Given the description of an element on the screen output the (x, y) to click on. 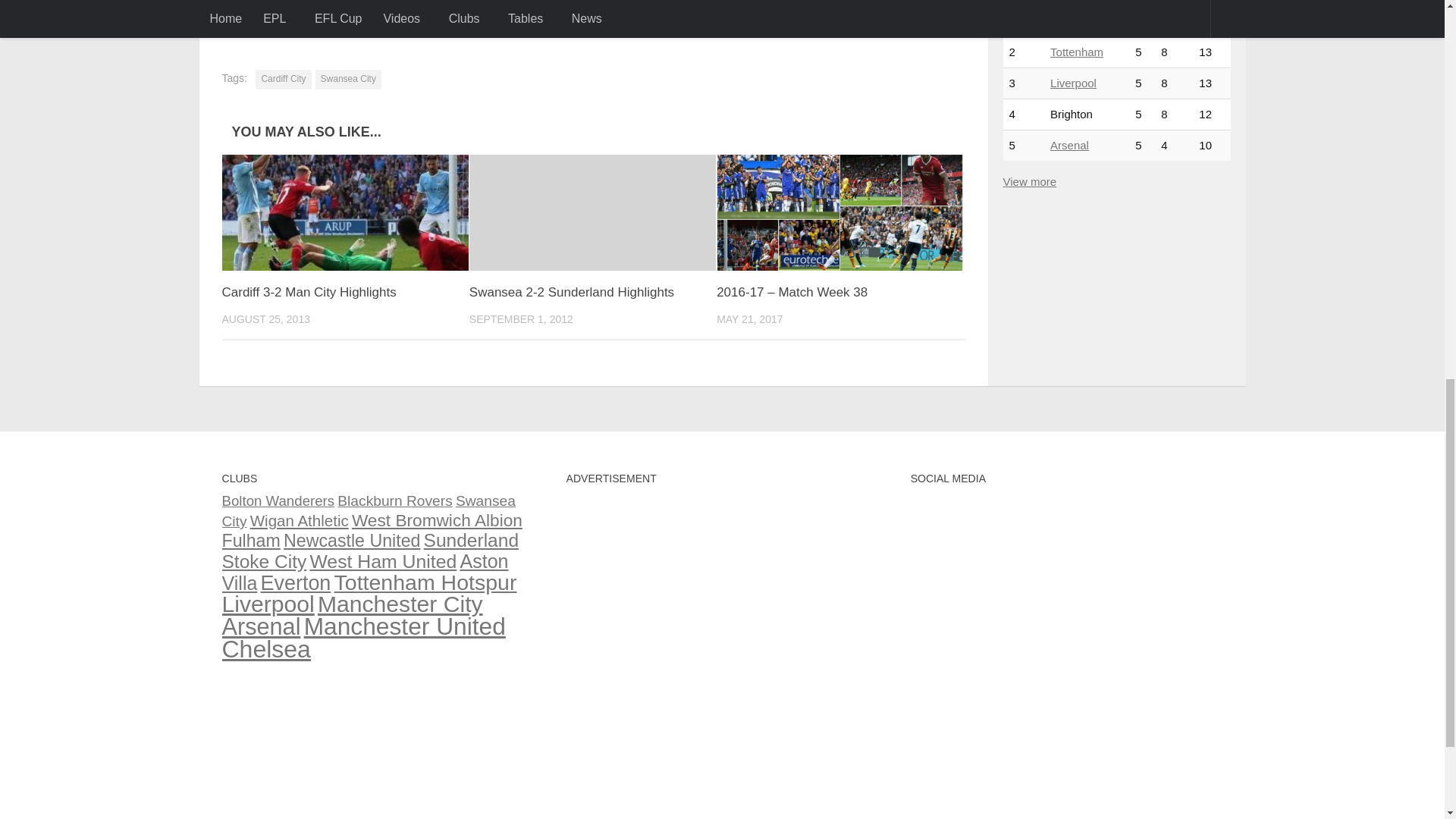
Manchester City (1071, 20)
Tottenham Hotspur (1076, 51)
